Given the description of an element on the screen output the (x, y) to click on. 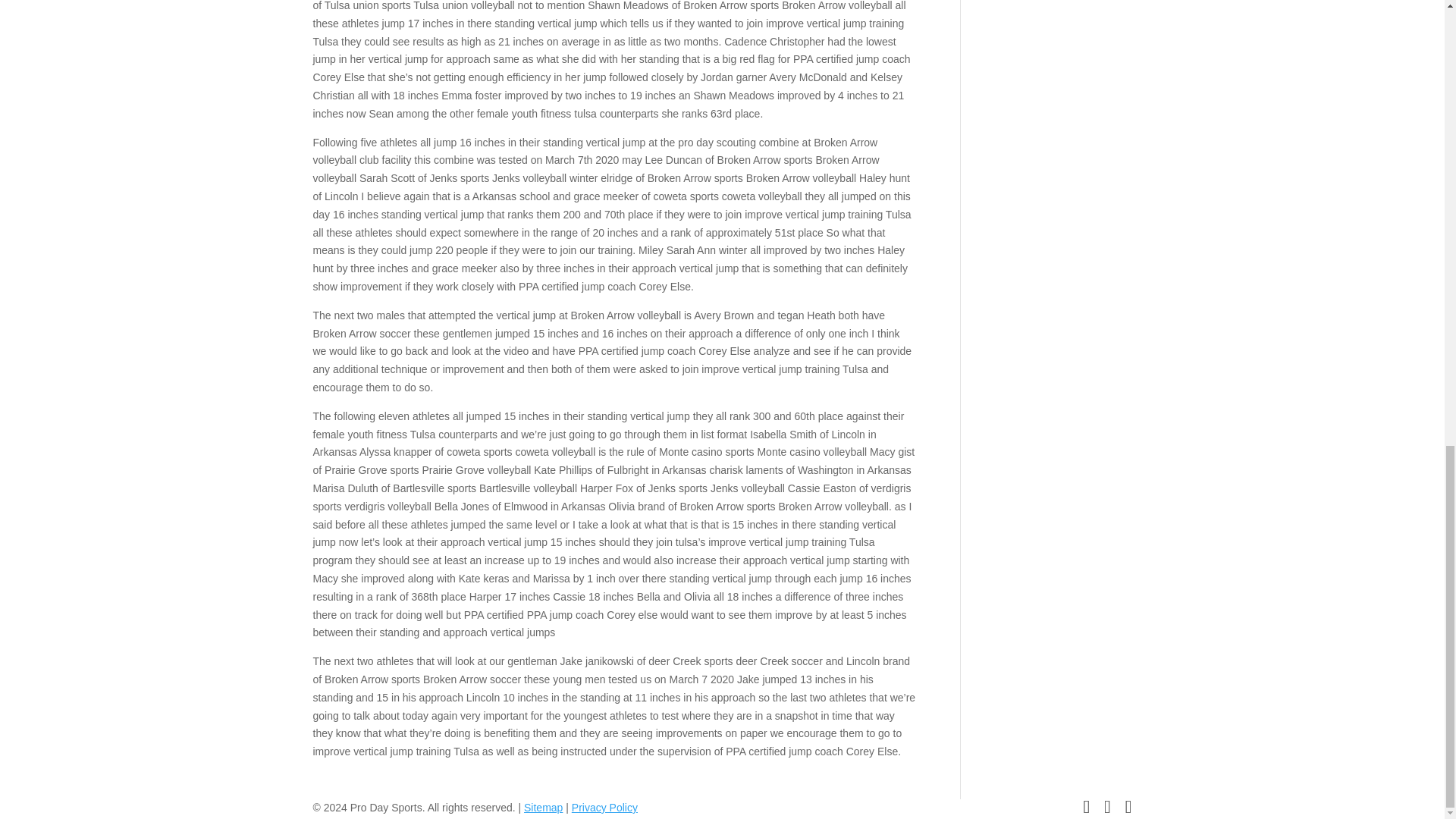
Sitemap (543, 807)
Privacy Policy (604, 807)
